Given the description of an element on the screen output the (x, y) to click on. 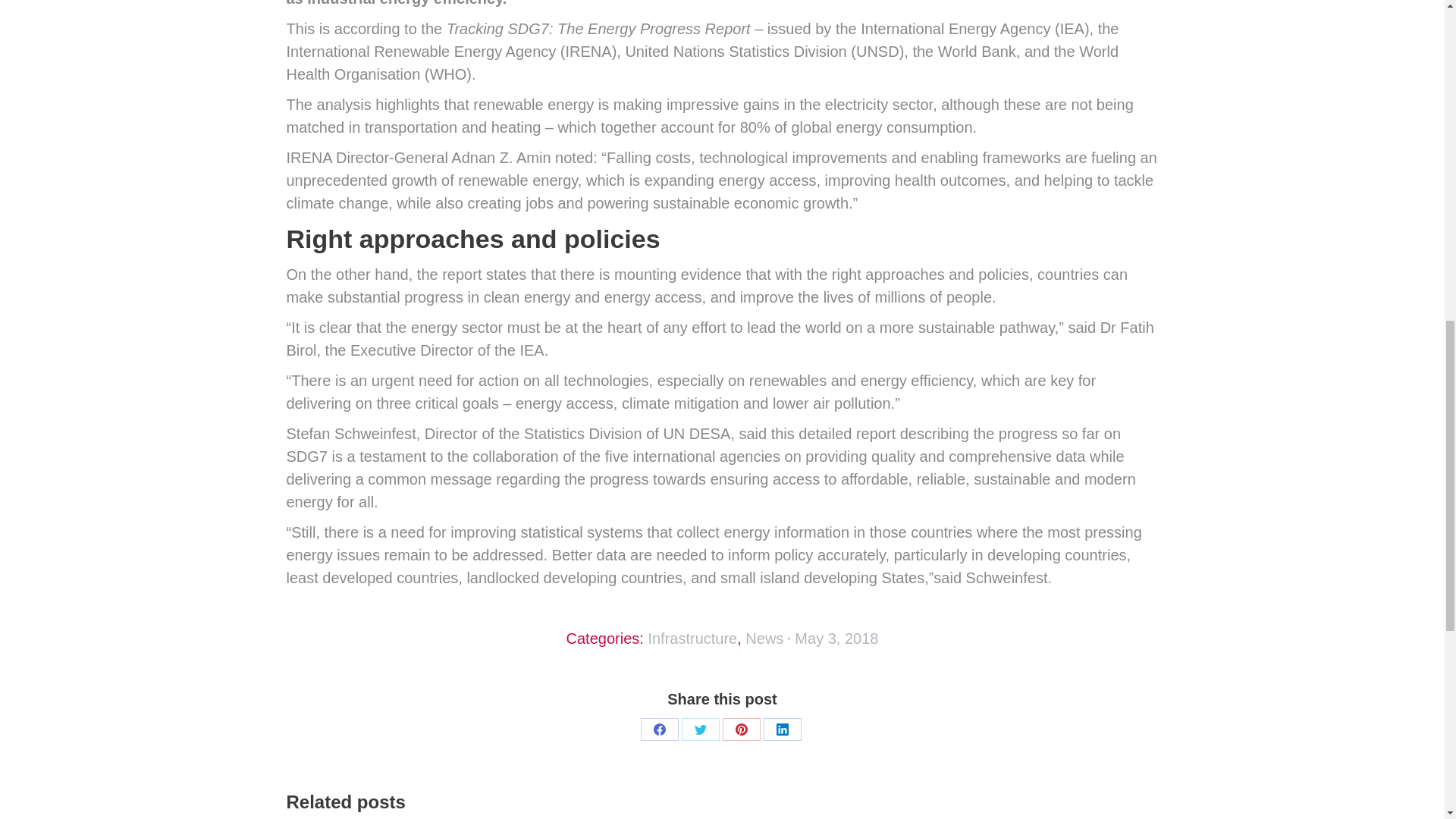
Twitter (700, 729)
Facebook (659, 729)
8:59 am (835, 638)
